Given the description of an element on the screen output the (x, y) to click on. 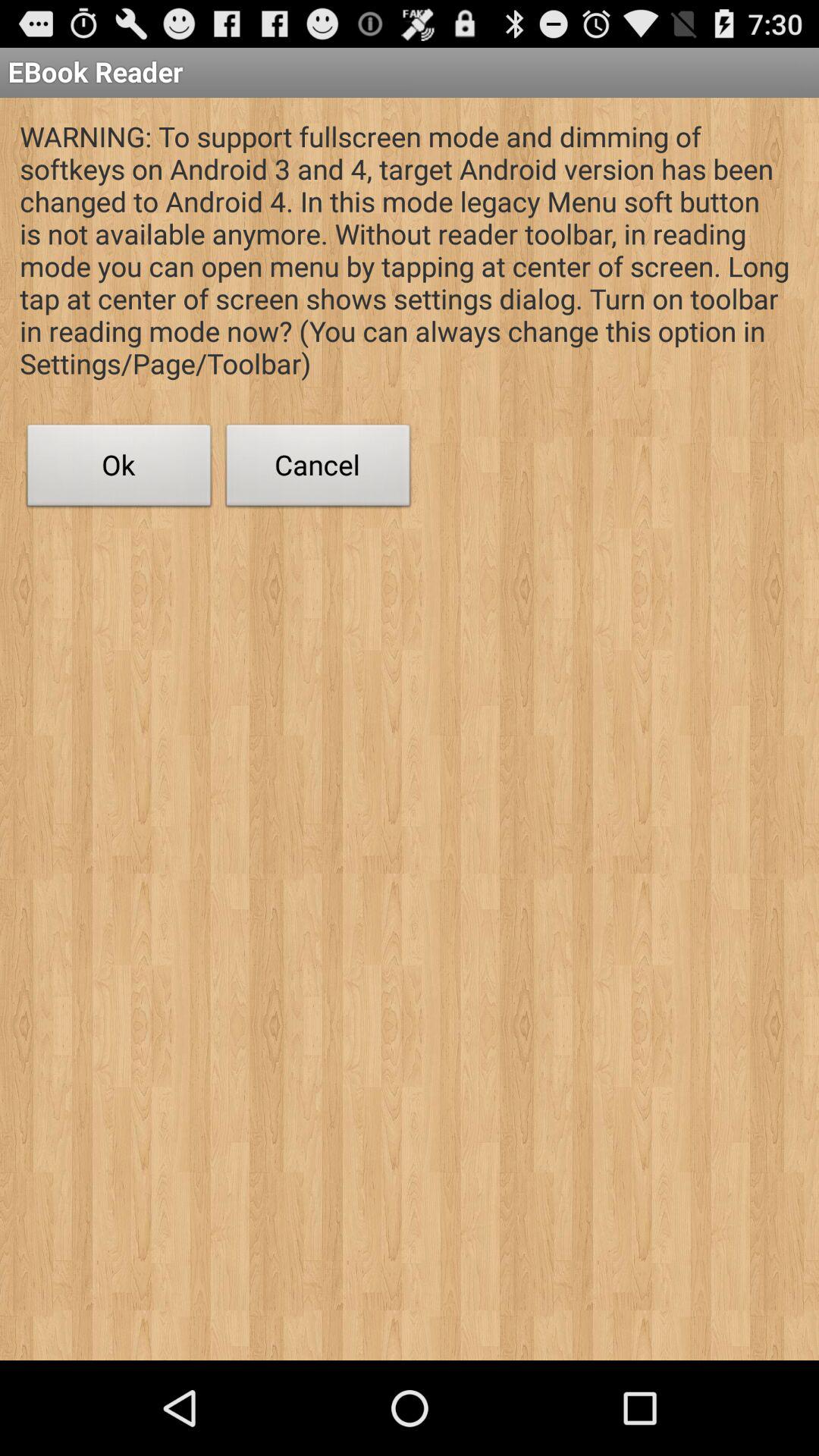
turn off app below the warning to support app (118, 469)
